Given the description of an element on the screen output the (x, y) to click on. 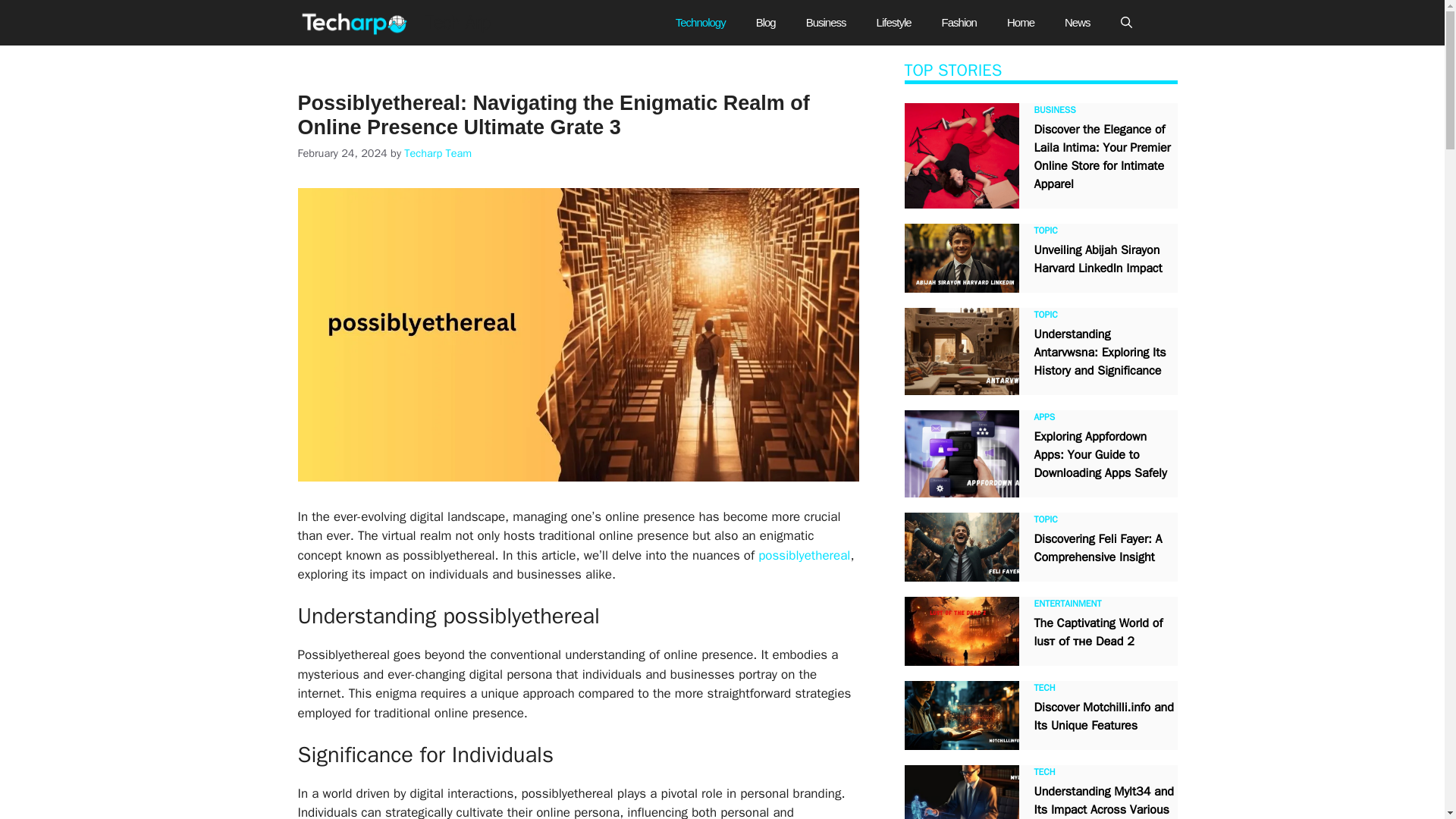
Lifestyle (893, 22)
Fashion (958, 22)
Blog (765, 22)
possiblyethereal (804, 555)
View all posts by Techarp Team (437, 152)
Tech Arp (356, 22)
Techarp Team (437, 152)
Home (1020, 22)
News (1077, 22)
Business (825, 22)
Technology (701, 22)
Tech Arp (457, 22)
